Given the description of an element on the screen output the (x, y) to click on. 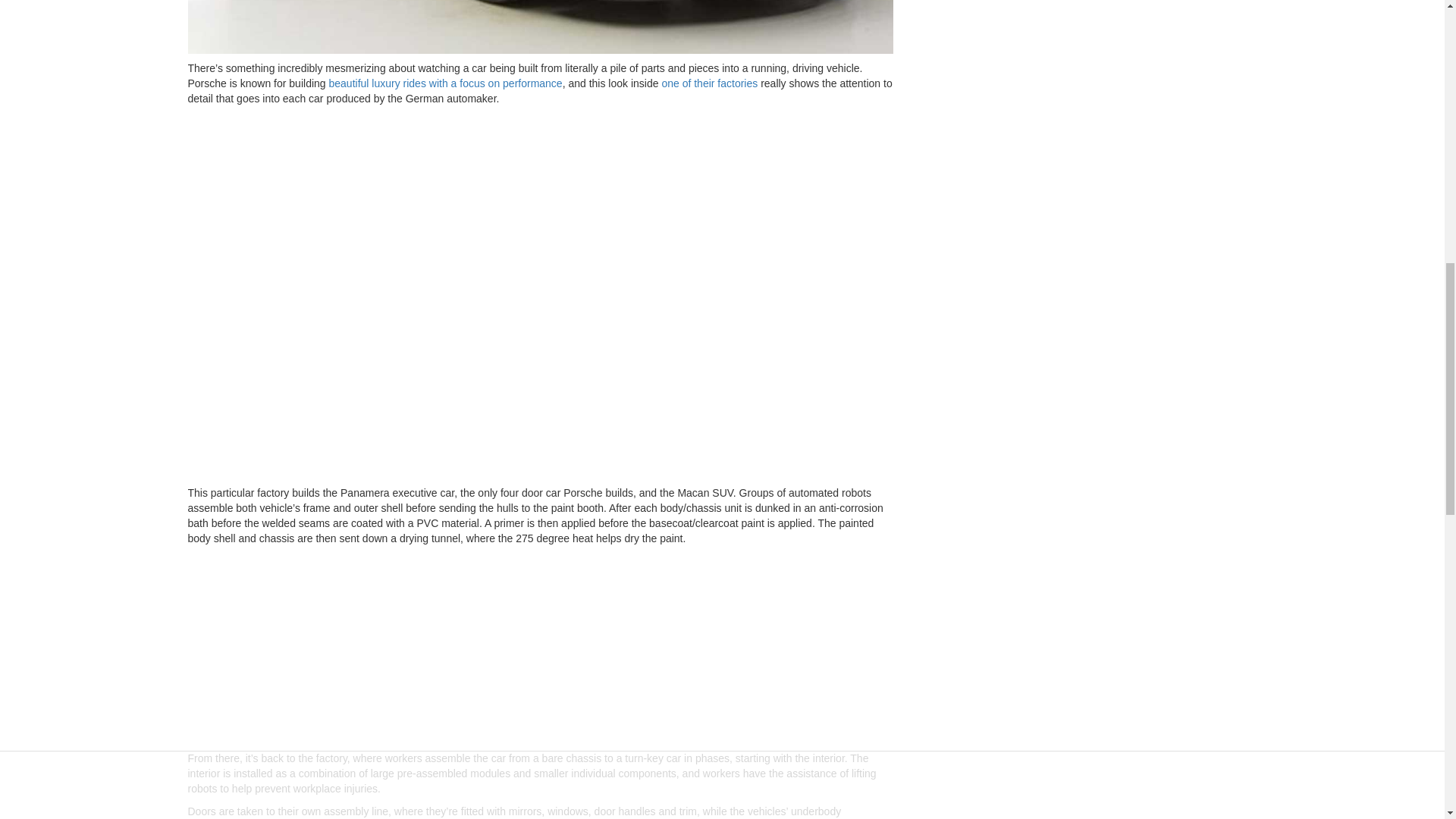
one of their factories (709, 82)
porsche-made- - Speed Society (540, 27)
beautiful luxury rides with a focus on performance (444, 82)
